Given the description of an element on the screen output the (x, y) to click on. 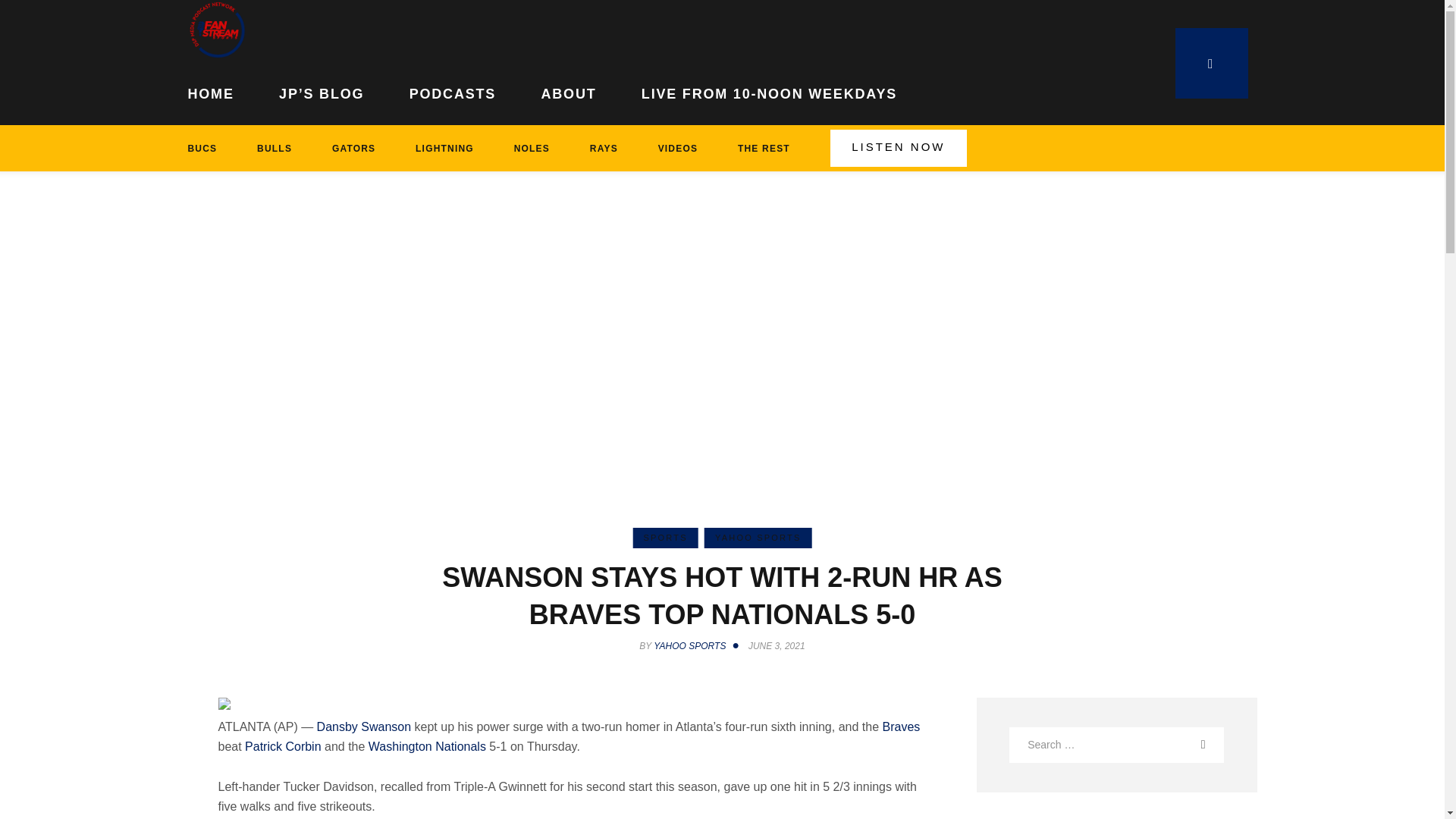
LIVE FROM 10-NOON WEEKDAYS (769, 91)
VIDEOS (677, 147)
BUCS (212, 147)
BY YAHOO SPORTS (692, 645)
LIGHTNING (445, 147)
BULLS (275, 147)
LISTEN NOW (897, 148)
SPORTS (664, 537)
Search (1213, 744)
ABOUT (568, 91)
HOME (222, 91)
RAYS (603, 147)
PODCASTS (452, 91)
GATORS (352, 147)
Search (1213, 744)
